Given the description of an element on the screen output the (x, y) to click on. 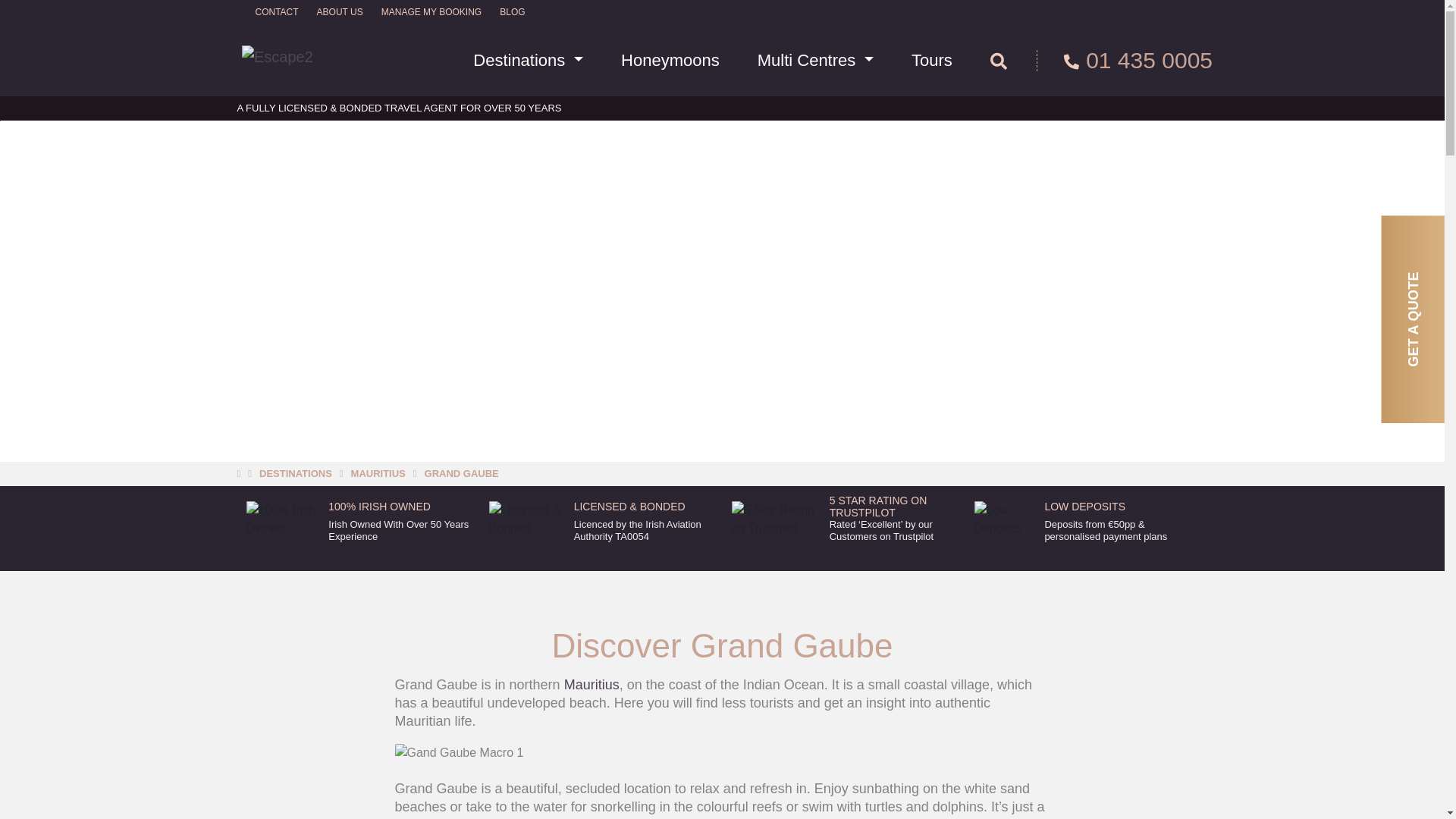
MAURITIUS (378, 473)
Mauritius (592, 684)
Tours (931, 60)
BLOG (511, 12)
Multi Centres (815, 60)
Honeymoons (670, 60)
ABOUT US (339, 12)
MANAGE MY BOOKING (431, 12)
Destinations (528, 60)
CONTACT (276, 12)
01 435 0005 (1124, 60)
DESTINATIONS (295, 473)
